Given the description of an element on the screen output the (x, y) to click on. 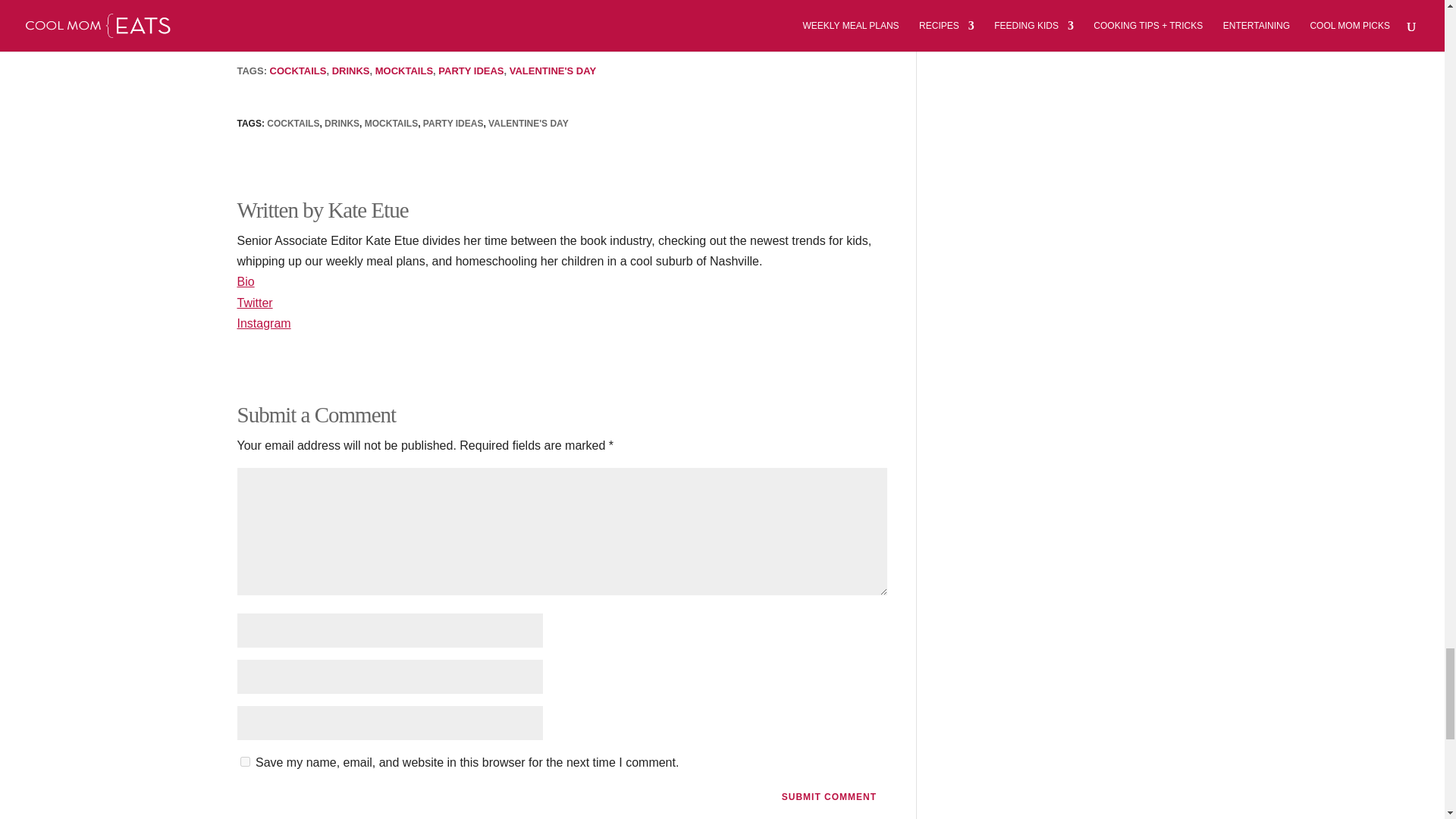
yes (244, 761)
Submit Comment (828, 796)
